Given the description of an element on the screen output the (x, y) to click on. 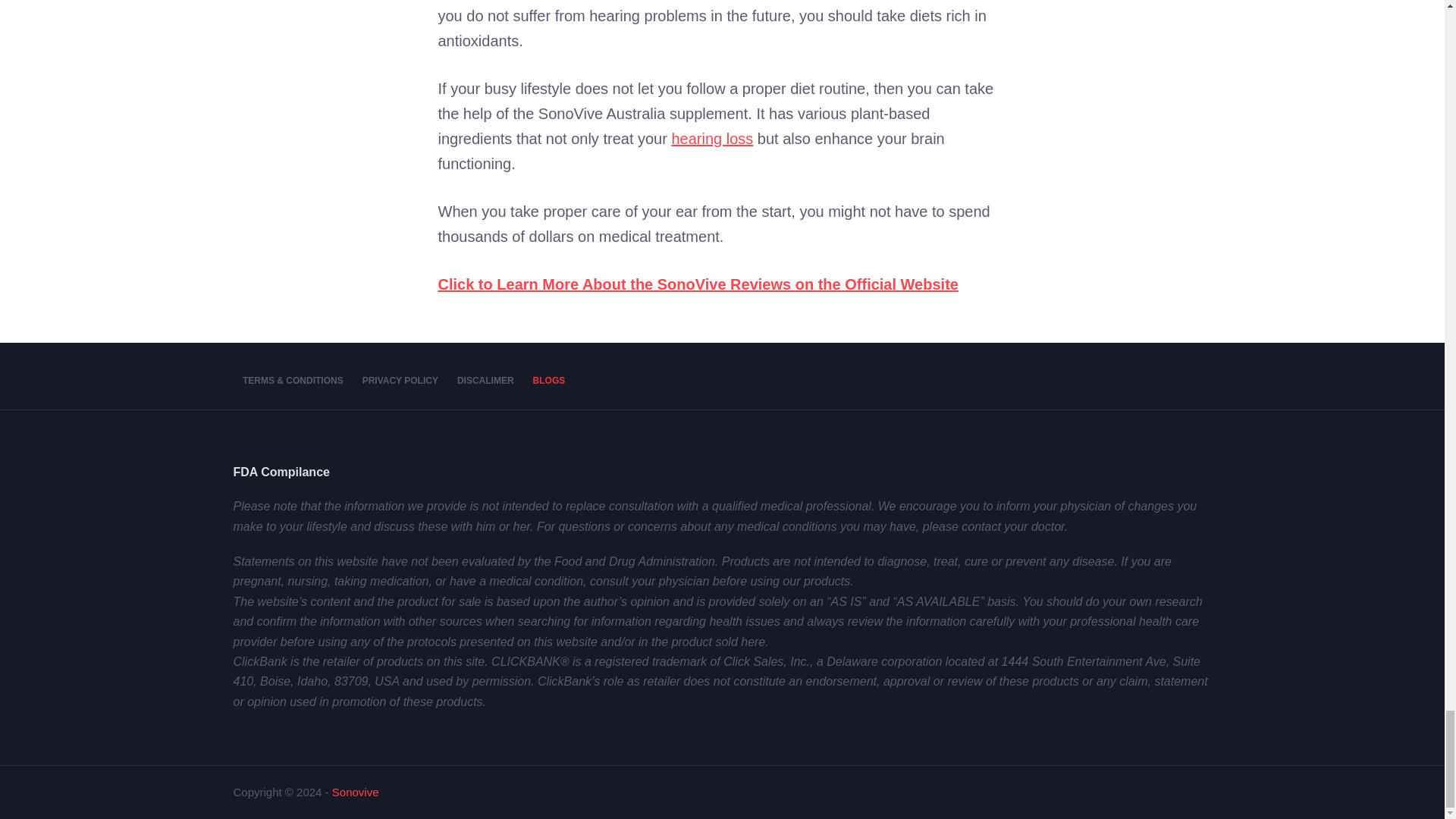
Sonovive (354, 791)
BLOGS (548, 381)
PRIVACY POLICY (399, 381)
DISCALIMER (484, 381)
hearing loss (711, 138)
